Given the description of an element on the screen output the (x, y) to click on. 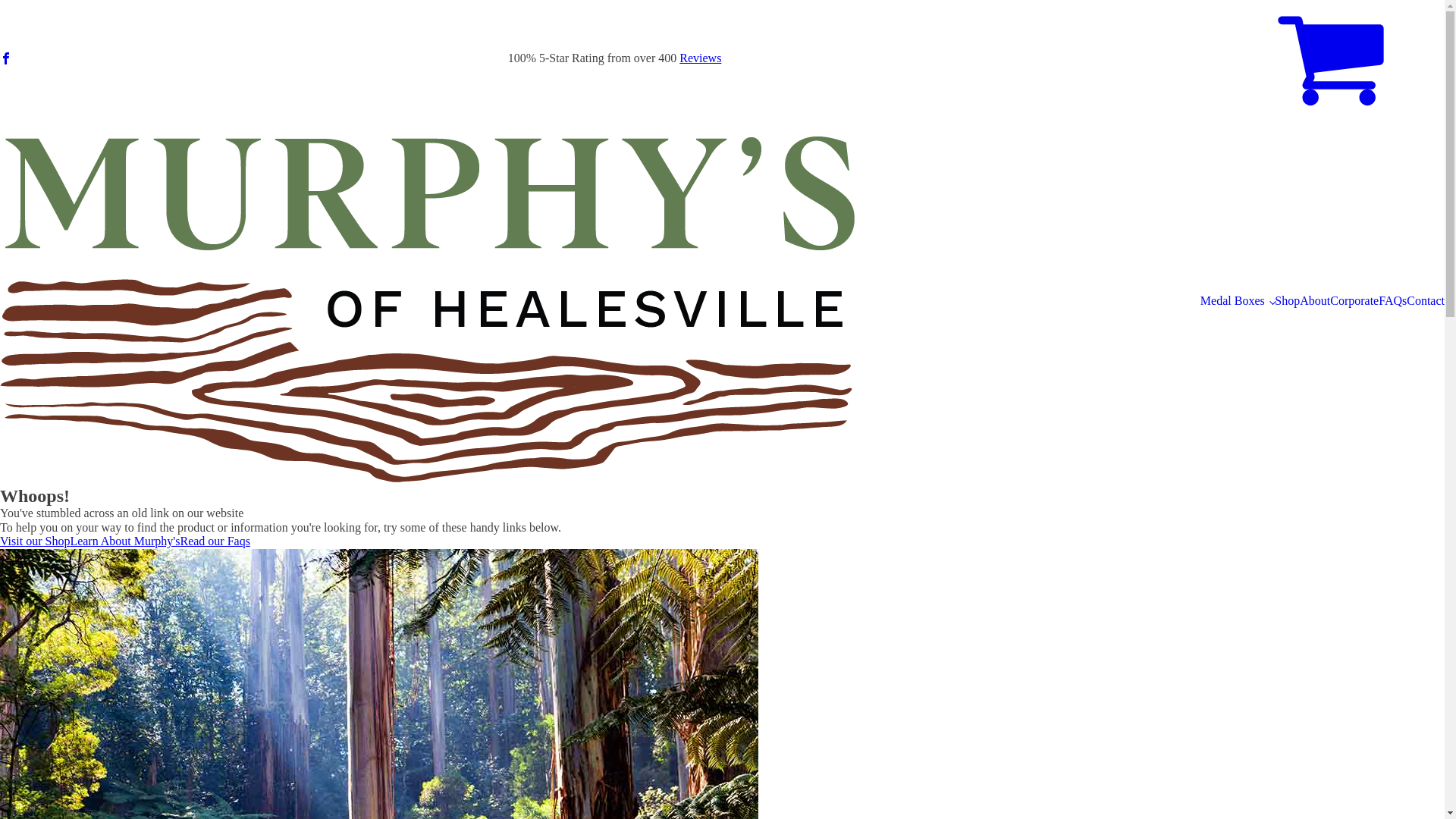
Reviews Element type: text (700, 57)
Contact Element type: text (1425, 300)
Visit our Shop Element type: text (34, 540)
Read our Faqs Element type: text (214, 540)
Learn About Murphy's Element type: text (124, 540)
FAQs Element type: text (1392, 300)
Corporate Element type: text (1354, 300)
About Element type: text (1314, 300)
Medal Boxes Element type: text (1237, 300)
Shop Element type: text (1286, 300)
